Given the description of an element on the screen output the (x, y) to click on. 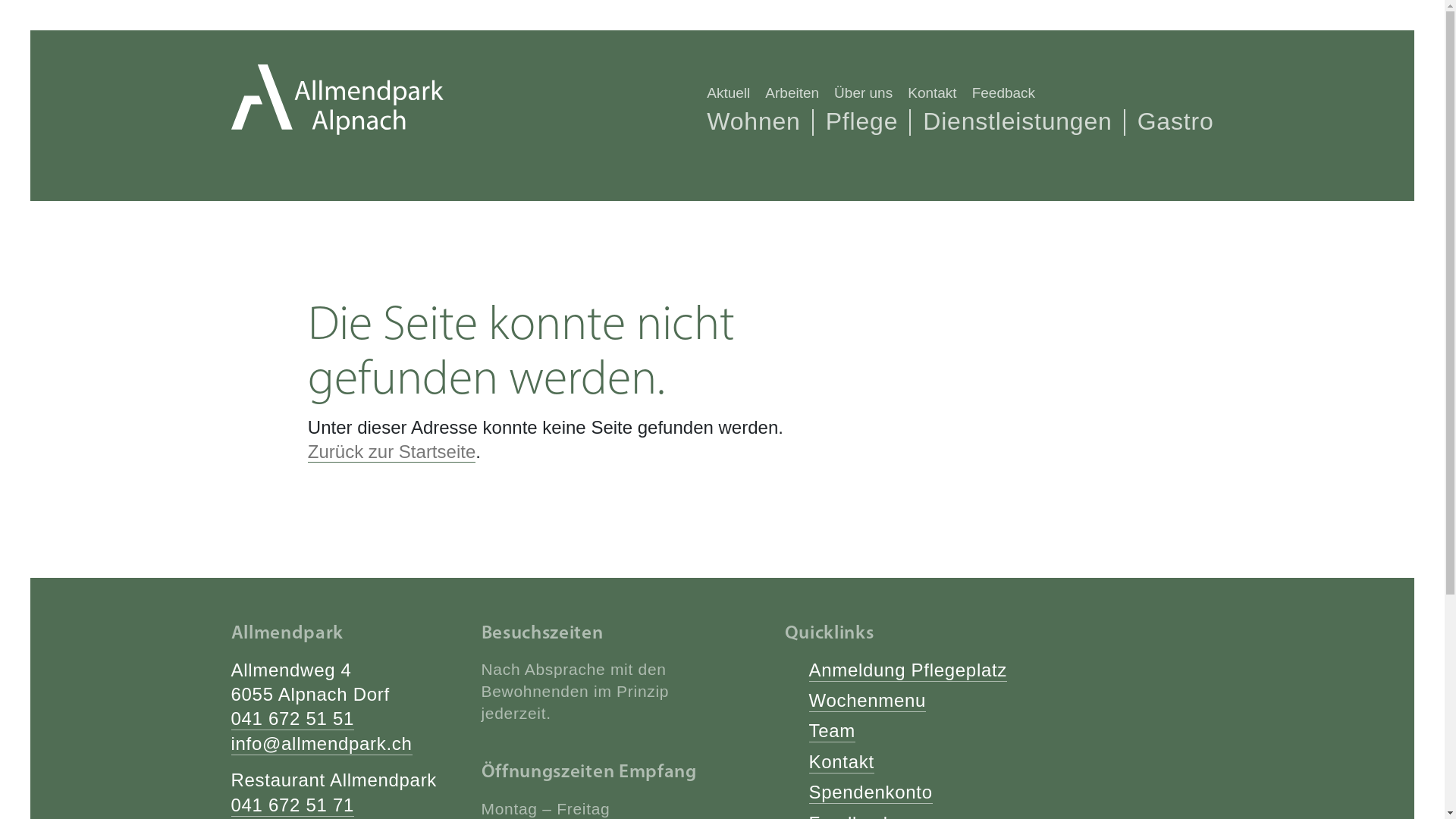
Arbeiten Element type: text (792, 93)
041 672 51 71 Element type: text (292, 805)
Pflege Element type: text (861, 121)
Wochenmenu Element type: text (866, 701)
041 672 51 51 Element type: text (292, 719)
Spendenkonto Element type: text (869, 792)
Dienstleistungen Element type: text (1016, 121)
Kontakt Element type: text (840, 762)
Aktuell Element type: text (727, 93)
Kontakt Element type: text (931, 93)
Feedback Element type: text (1003, 93)
Team Element type: text (831, 731)
info@allmendpark.ch Element type: text (320, 744)
Wohnen Element type: text (753, 121)
Gastro Element type: text (1175, 121)
Anmeldung Pflegeplatz Element type: text (907, 670)
